Given the description of an element on the screen output the (x, y) to click on. 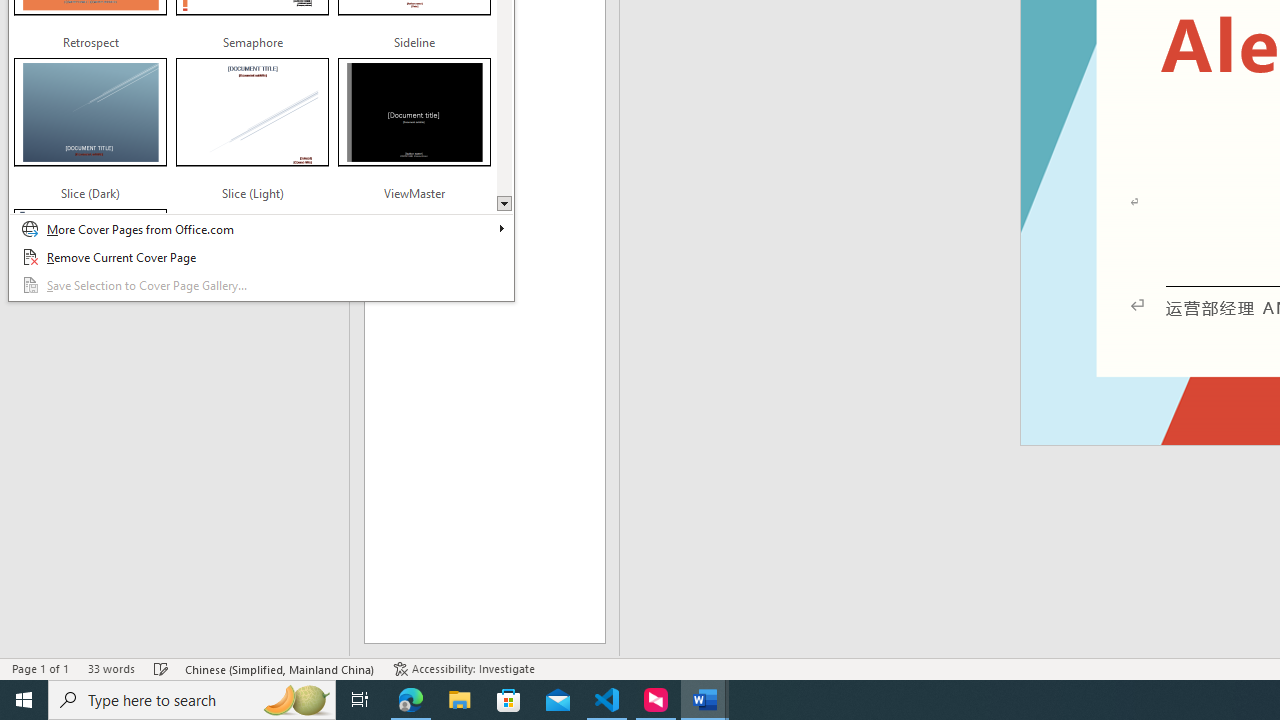
Type here to search (191, 699)
